Given the description of an element on the screen output the (x, y) to click on. 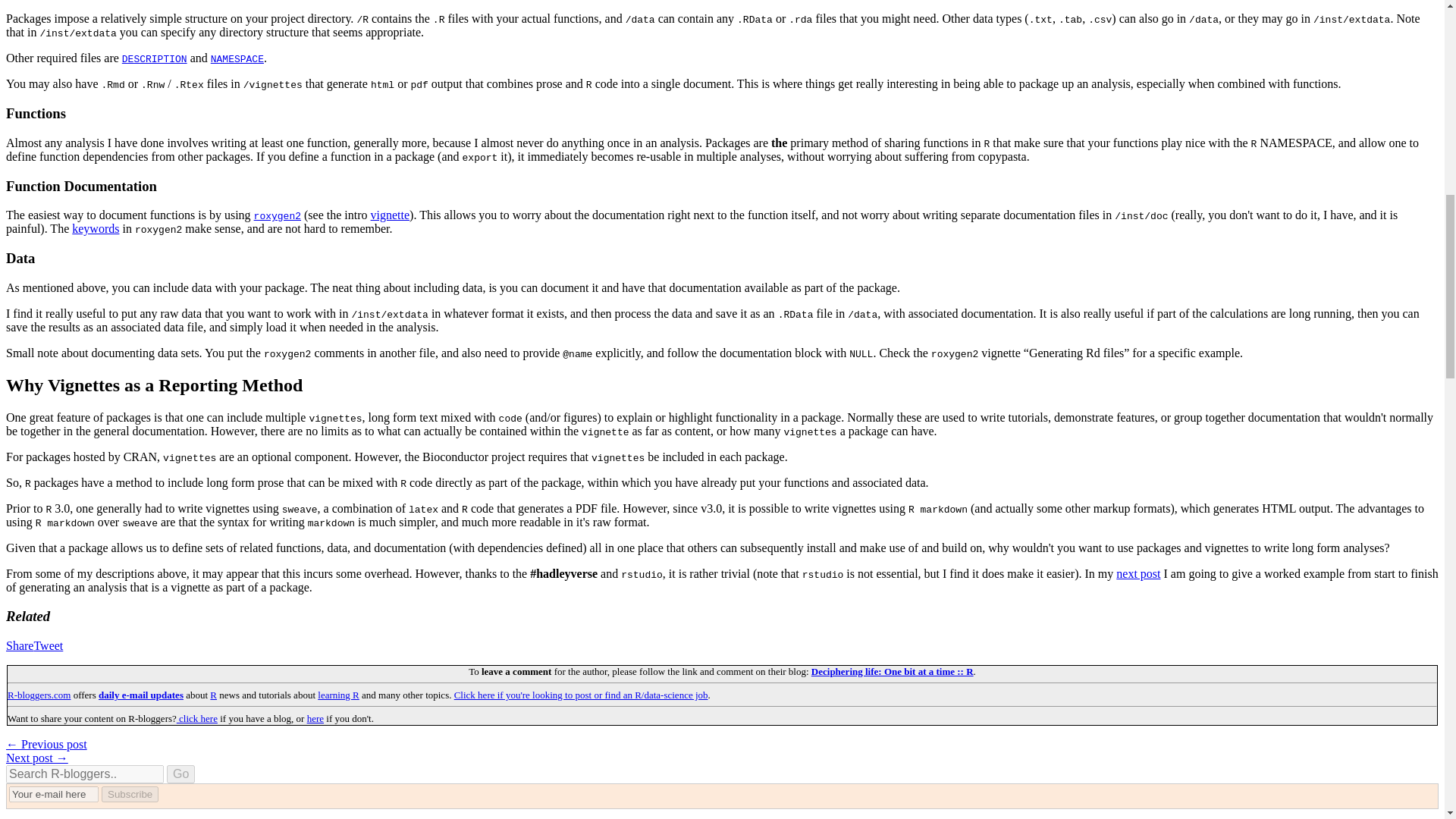
Share (19, 645)
Deciphering life: One bit at a time :: R (892, 671)
vignette (390, 214)
DESCRIPTION (154, 57)
daily e-mail updates (141, 695)
R tutorials (338, 695)
R-bloggers.com (38, 695)
Go (181, 773)
Data science jobs (580, 695)
next post (1138, 573)
roxygen2 (277, 214)
Subscribe (129, 794)
Tweet (47, 645)
Your e-mail here (53, 794)
NAMESPACE (237, 57)
